Given the description of an element on the screen output the (x, y) to click on. 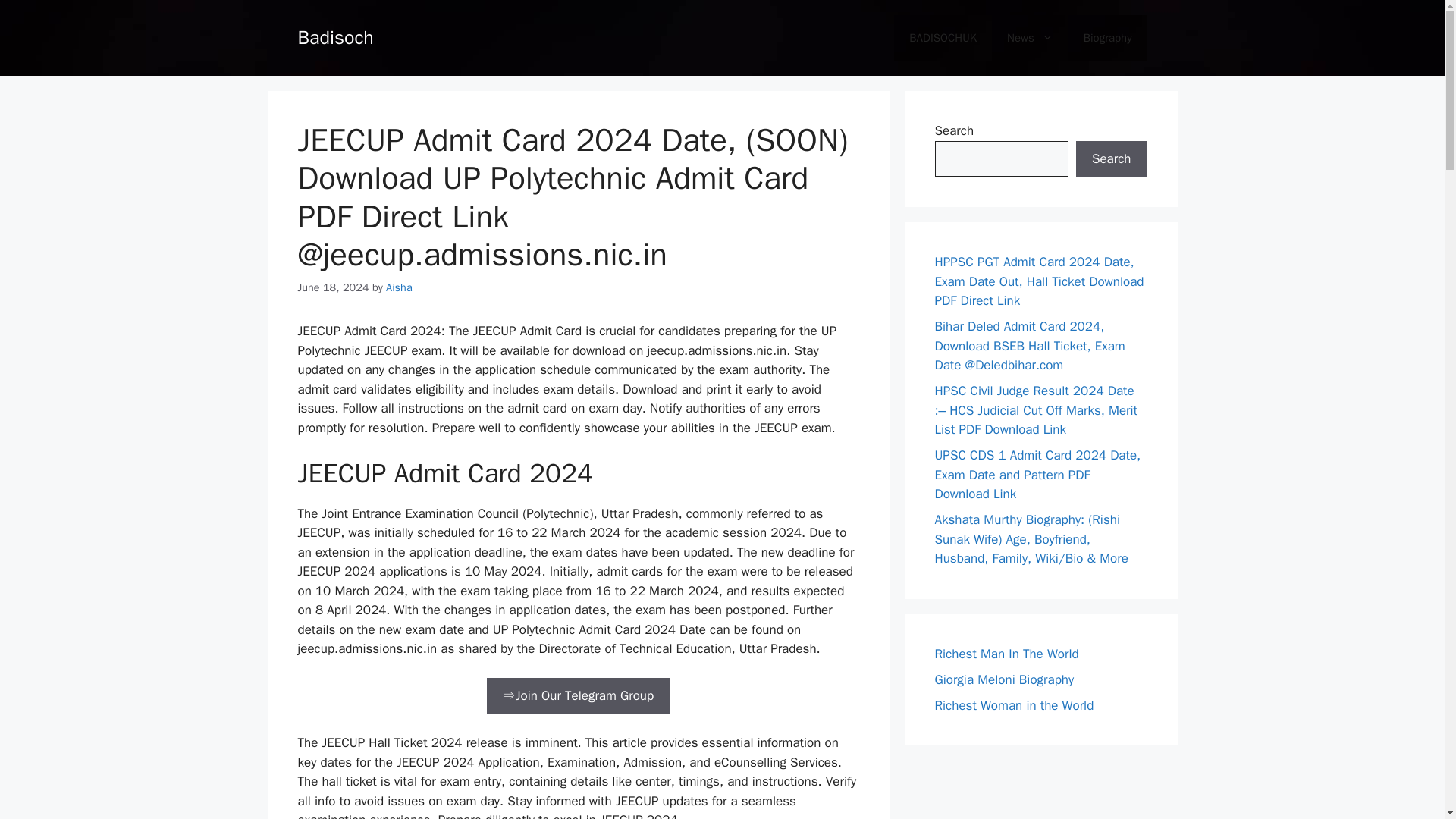
Richest Woman in the World (1013, 705)
Richest Man In The World (1006, 653)
News (1029, 37)
Giorgia Meloni Biography (1004, 679)
Aisha (398, 287)
Search (1111, 158)
Badisoch (334, 37)
View all posts by Aisha (398, 287)
